Given the description of an element on the screen output the (x, y) to click on. 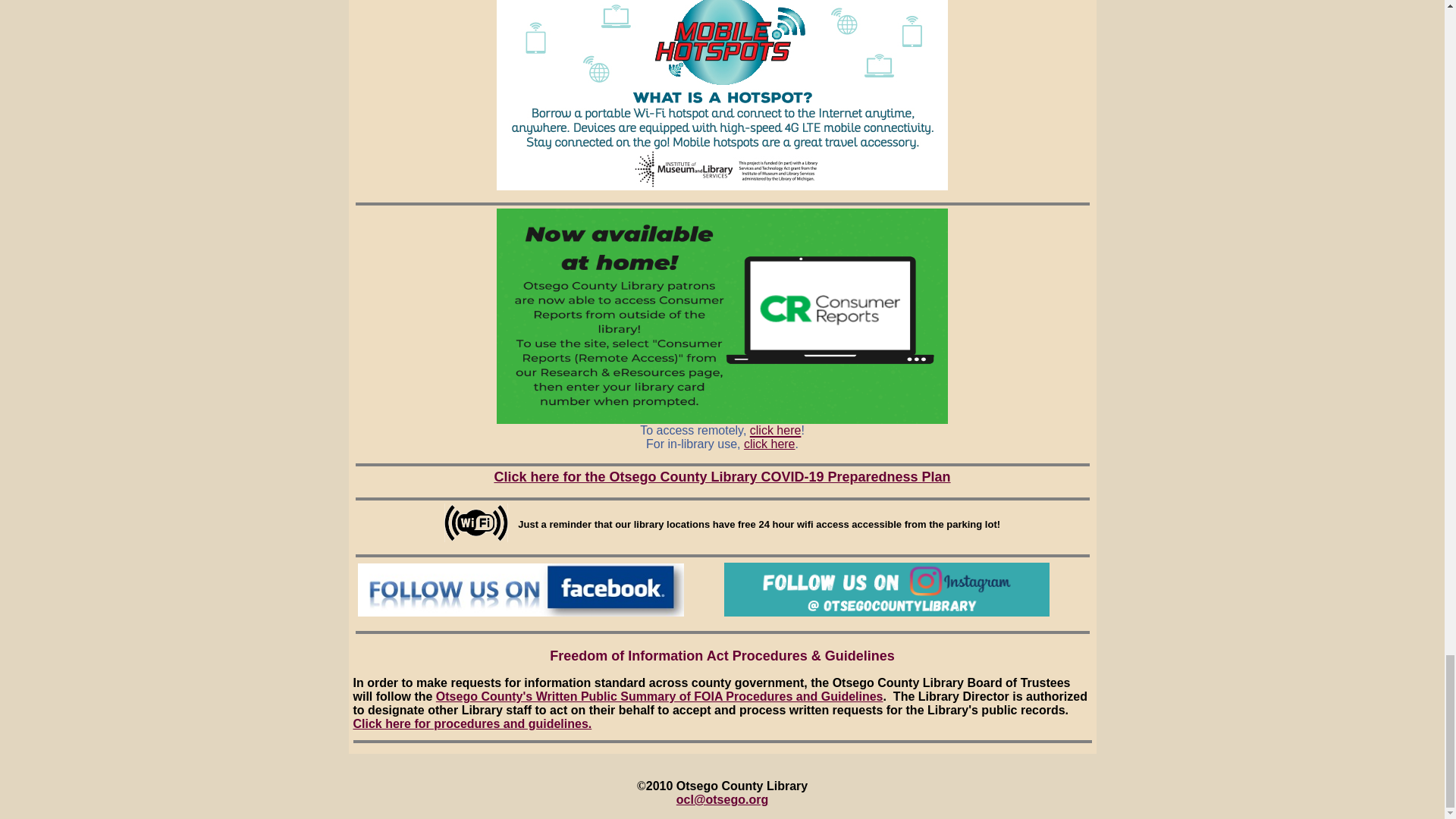
Click here for procedures and guidelines. (472, 723)
click here (769, 443)
click here (775, 427)
